Given the description of an element on the screen output the (x, y) to click on. 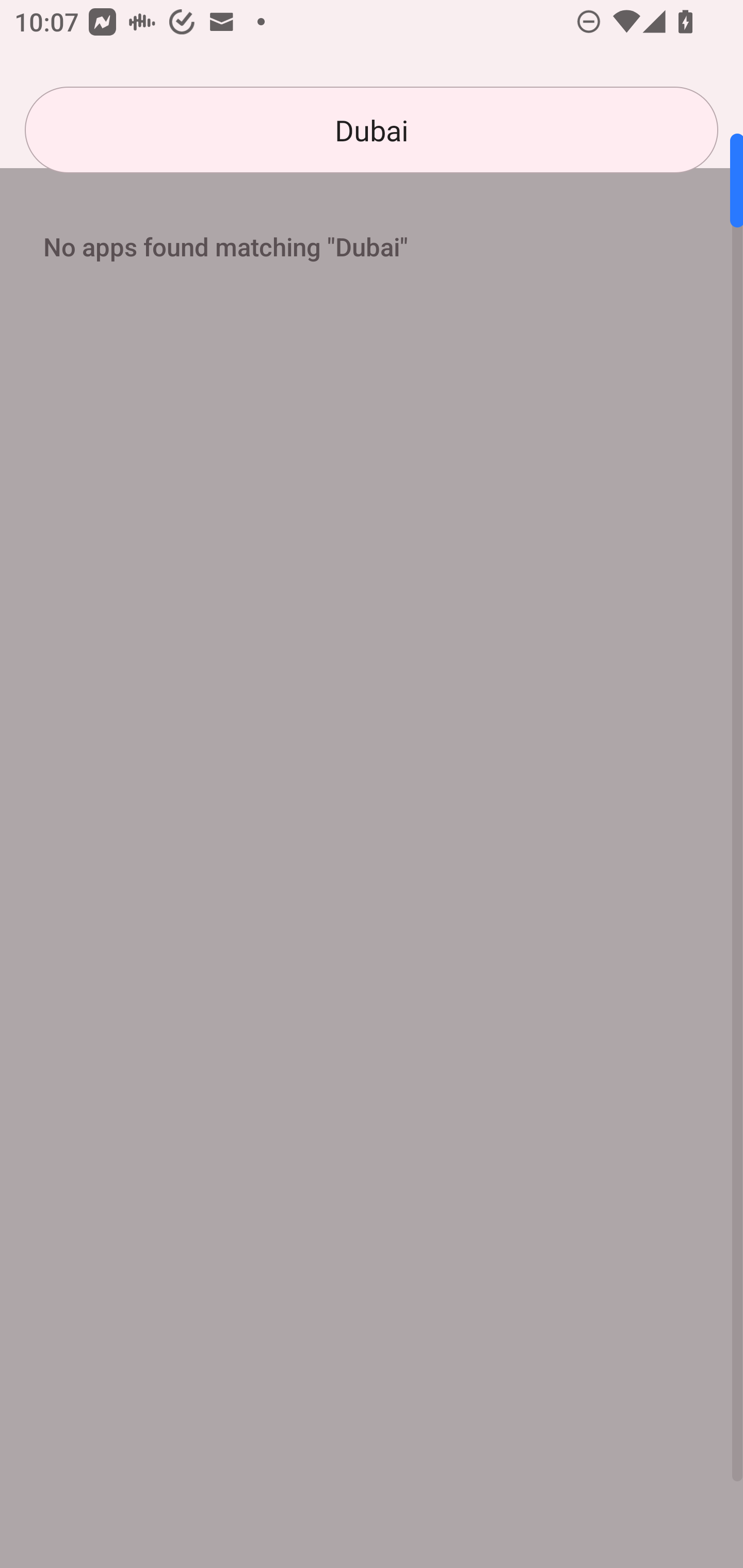
Dubai (371, 130)
